Given the description of an element on the screen output the (x, y) to click on. 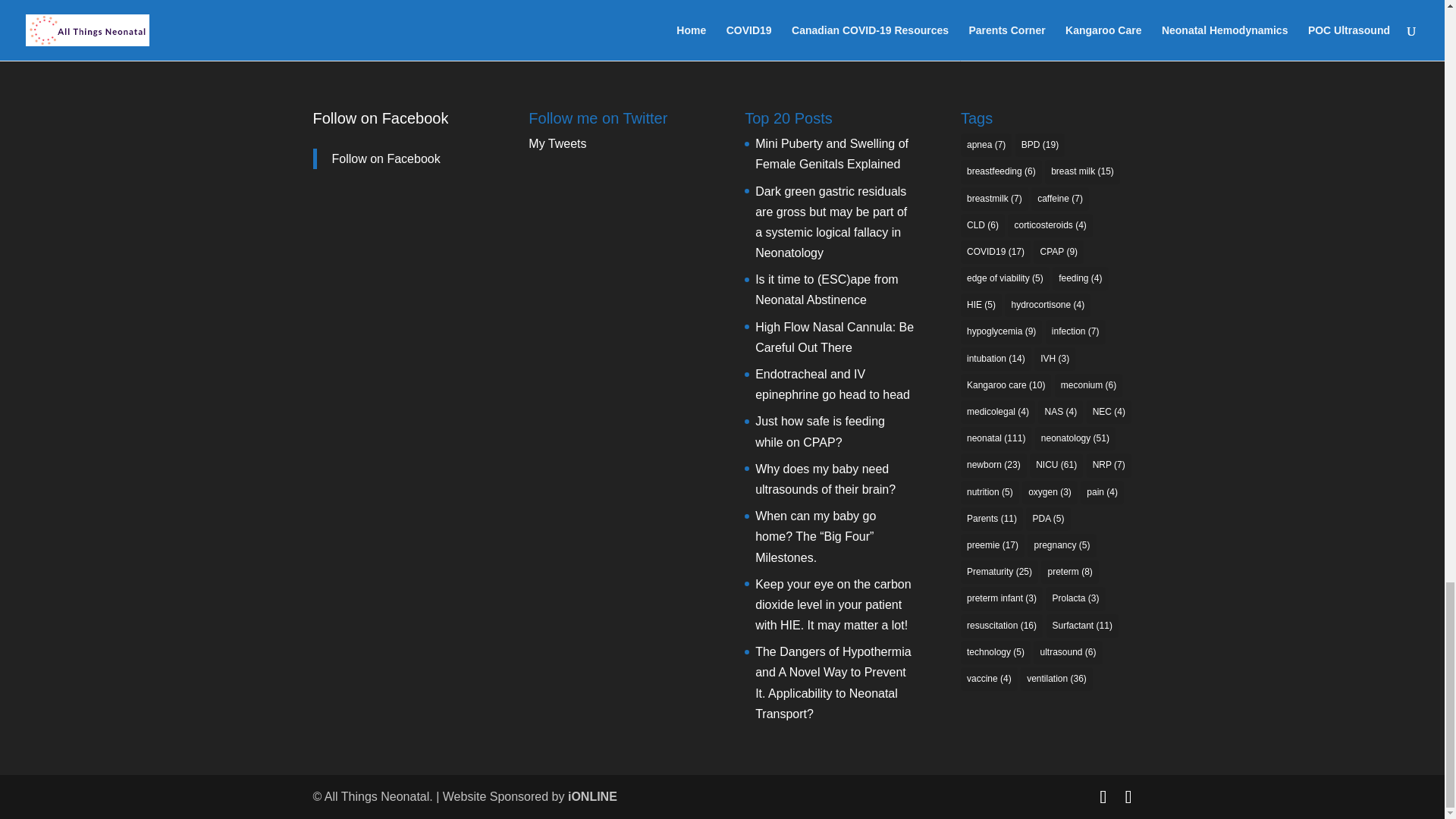
Follow on Facebook (380, 117)
My Tweets (557, 143)
Just how safe is feeding while on CPAP? (820, 430)
Endotracheal and IV epinephrine go head to head (832, 384)
Why does my baby need ultrasounds of their brain? (825, 479)
Mini Puberty and Swelling of Female Genitals Explained (831, 153)
Follow on Facebook (386, 158)
High Flow Nasal Cannula: Be Careful Out There (834, 337)
